Given the description of an element on the screen output the (x, y) to click on. 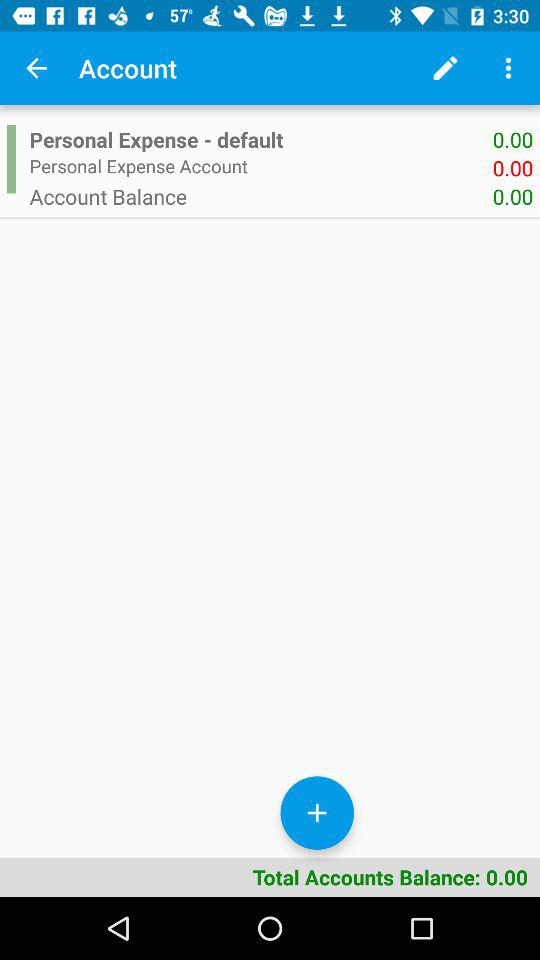
press the item next to account app (444, 67)
